Given the description of an element on the screen output the (x, y) to click on. 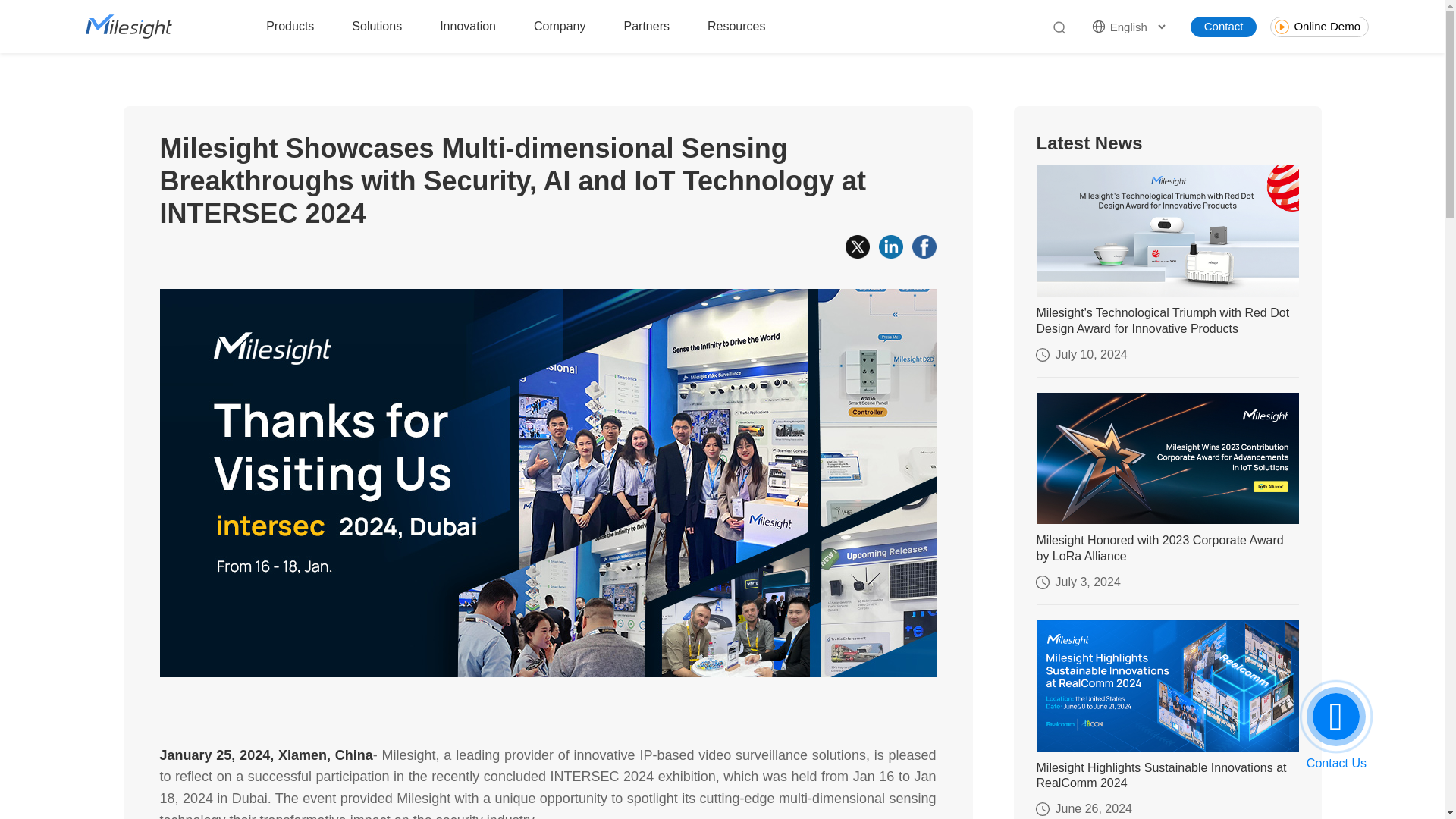
Contact (1224, 26)
Online Demo (1318, 26)
